Given the description of an element on the screen output the (x, y) to click on. 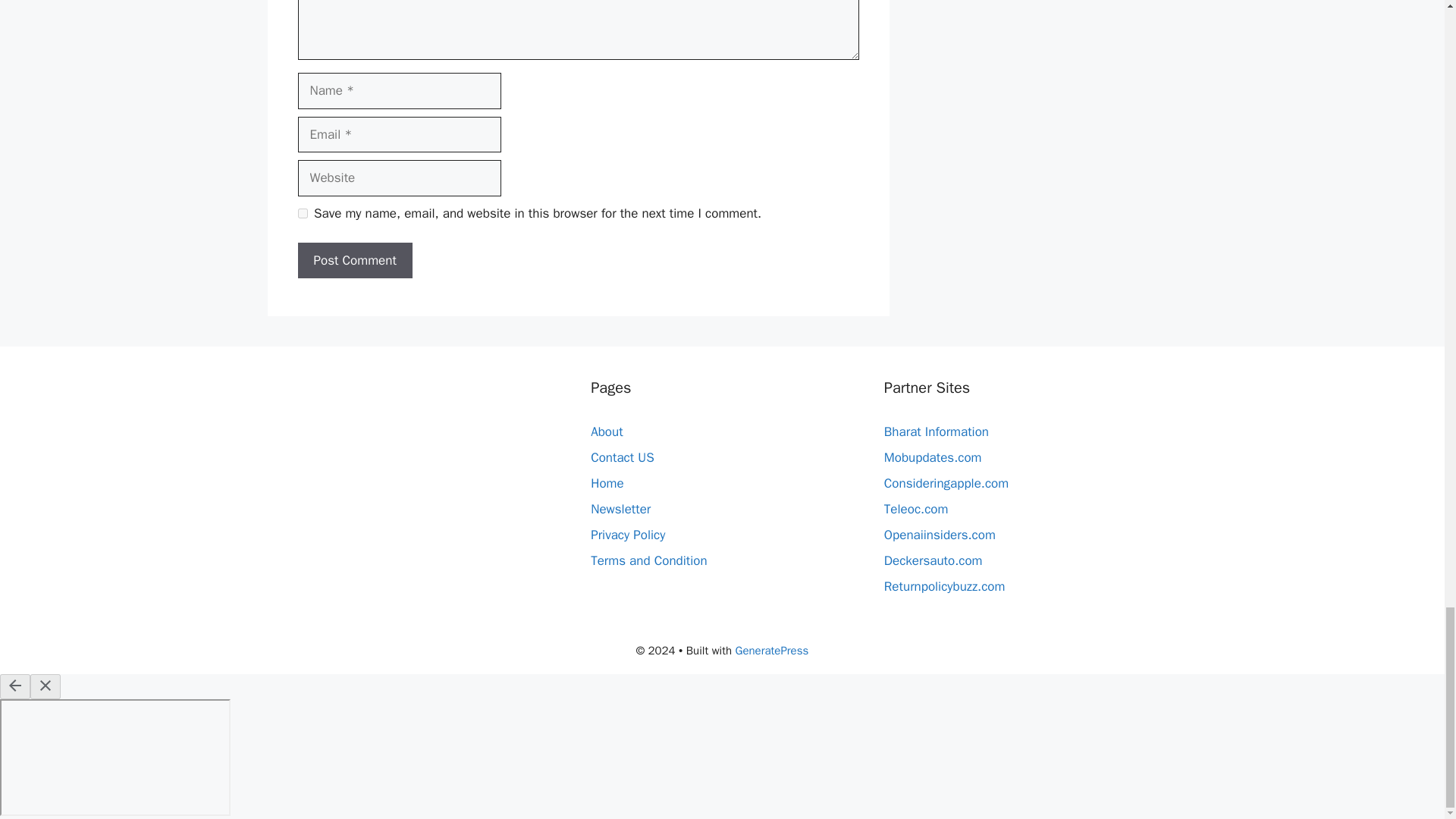
Post Comment (354, 260)
Post Comment (354, 260)
yes (302, 213)
